Given the description of an element on the screen output the (x, y) to click on. 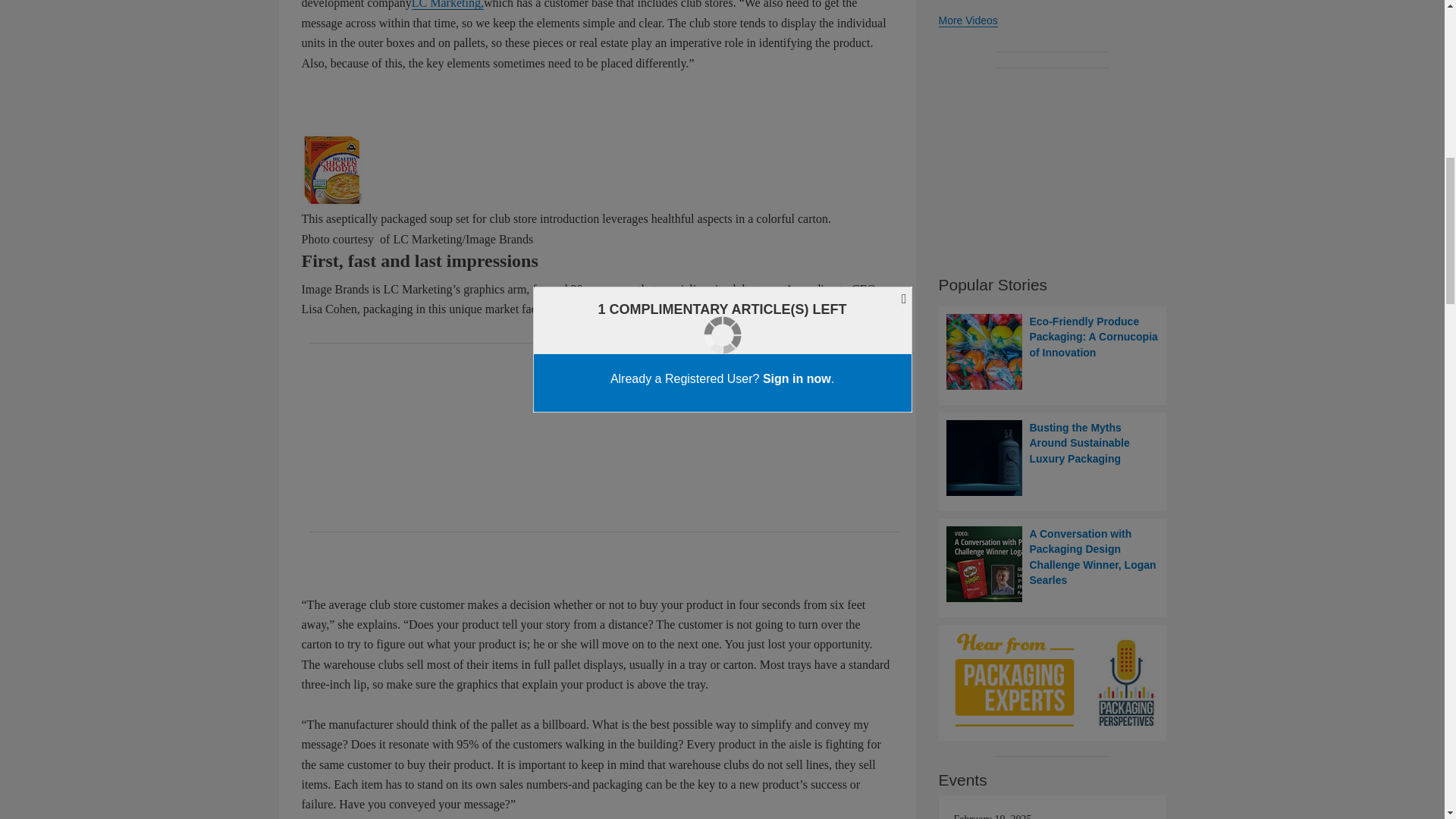
Eco-Friendly Produce Packaging: A Cornucopia of Innovation (1052, 351)
Busting the Myths Around Sustainable Luxury Packaging (1052, 458)
